Given the description of an element on the screen output the (x, y) to click on. 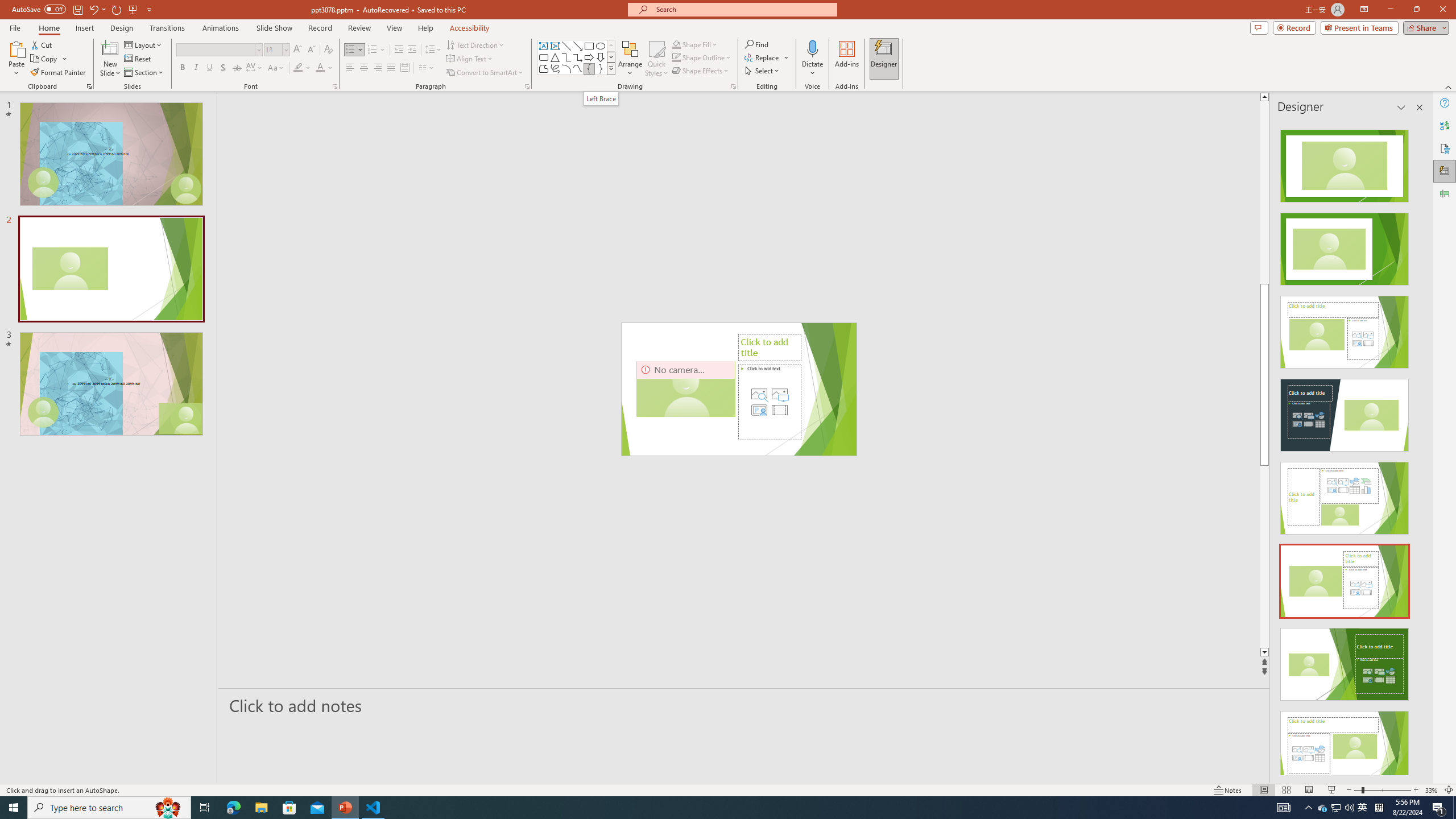
Replace... (767, 56)
Shadow (223, 67)
Office Clipboard... (88, 85)
Format Painter (58, 72)
Paragraph... (526, 85)
Bullets (349, 49)
Select (762, 69)
Font Color (324, 67)
Right Brace (600, 68)
Replace... (762, 56)
Designer (883, 58)
Vertical Text Box (554, 45)
Text Highlight Color Yellow (297, 67)
